Given the description of an element on the screen output the (x, y) to click on. 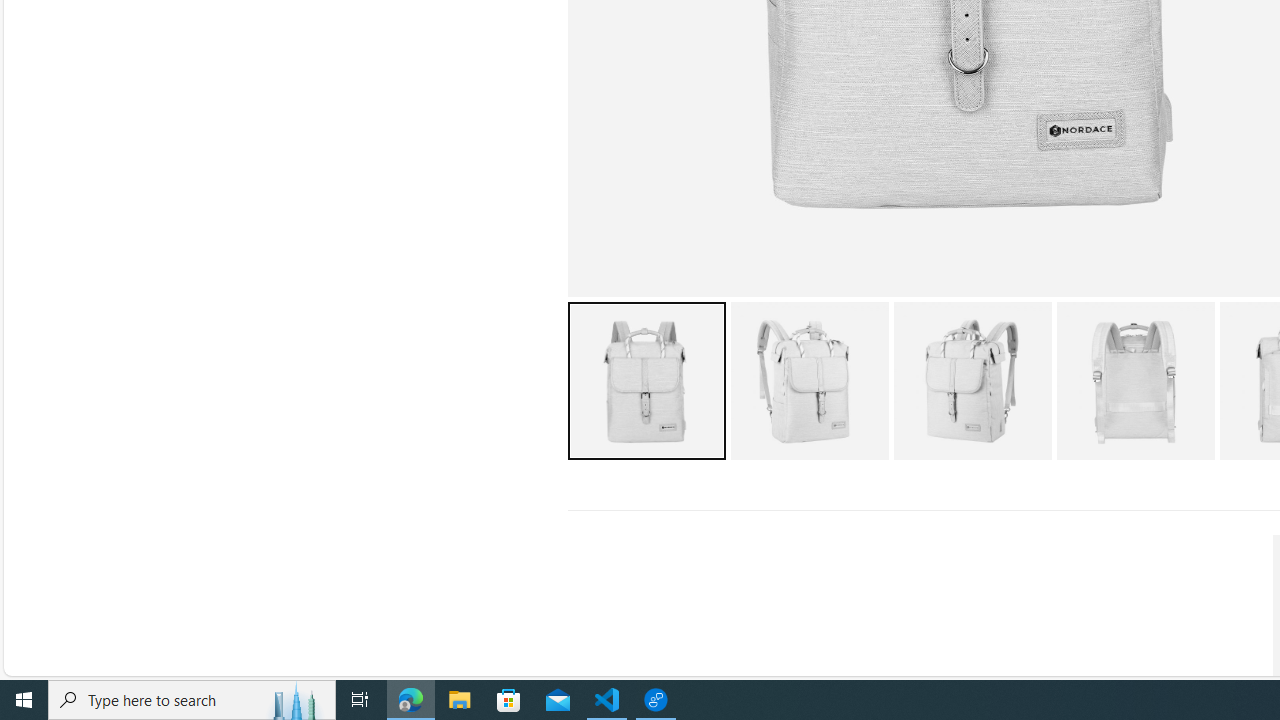
Nordace Comino Totepack (1135, 380)
